Given the description of an element on the screen output the (x, y) to click on. 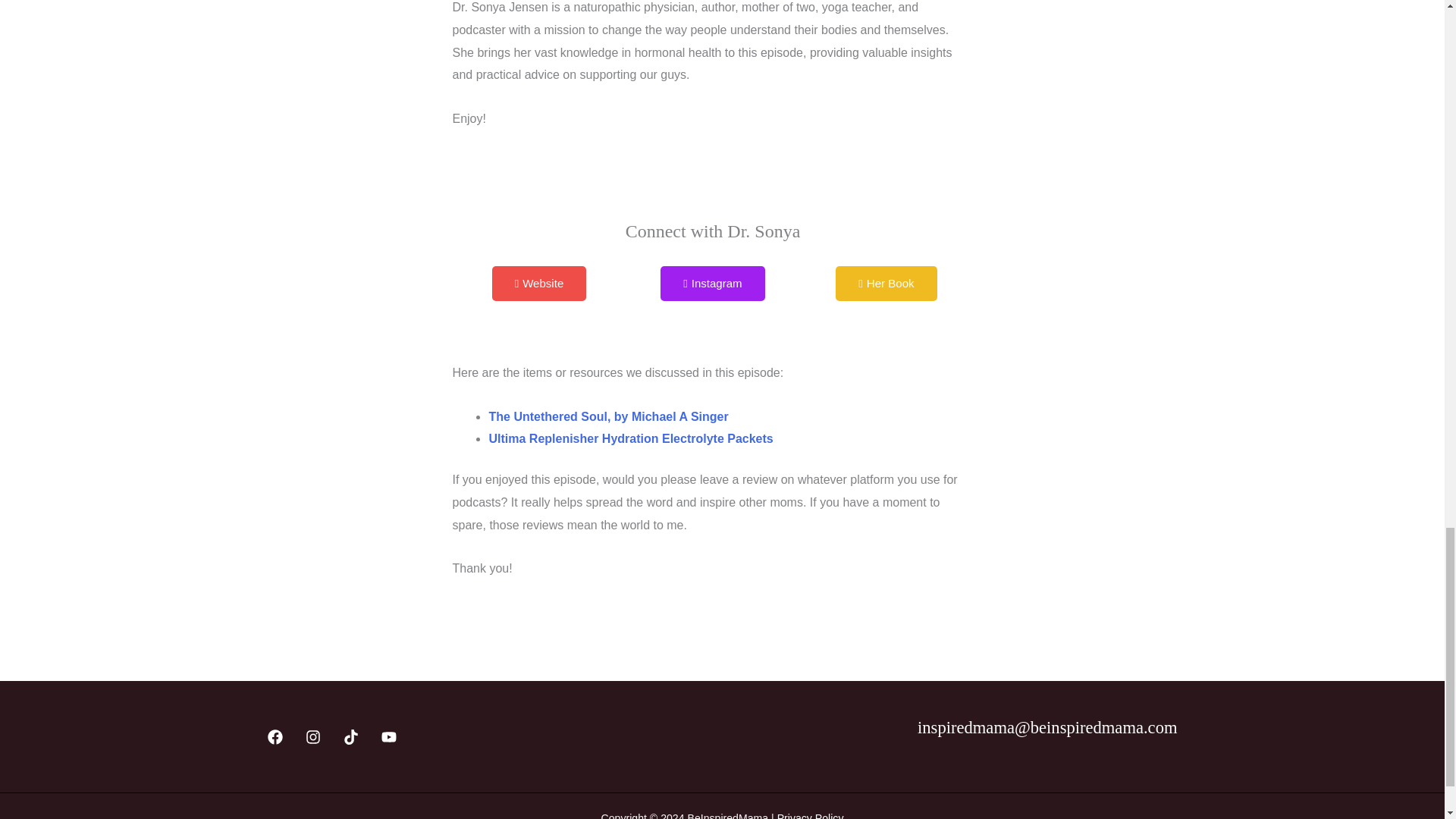
Website (539, 283)
Instagram (712, 283)
